Given the description of an element on the screen output the (x, y) to click on. 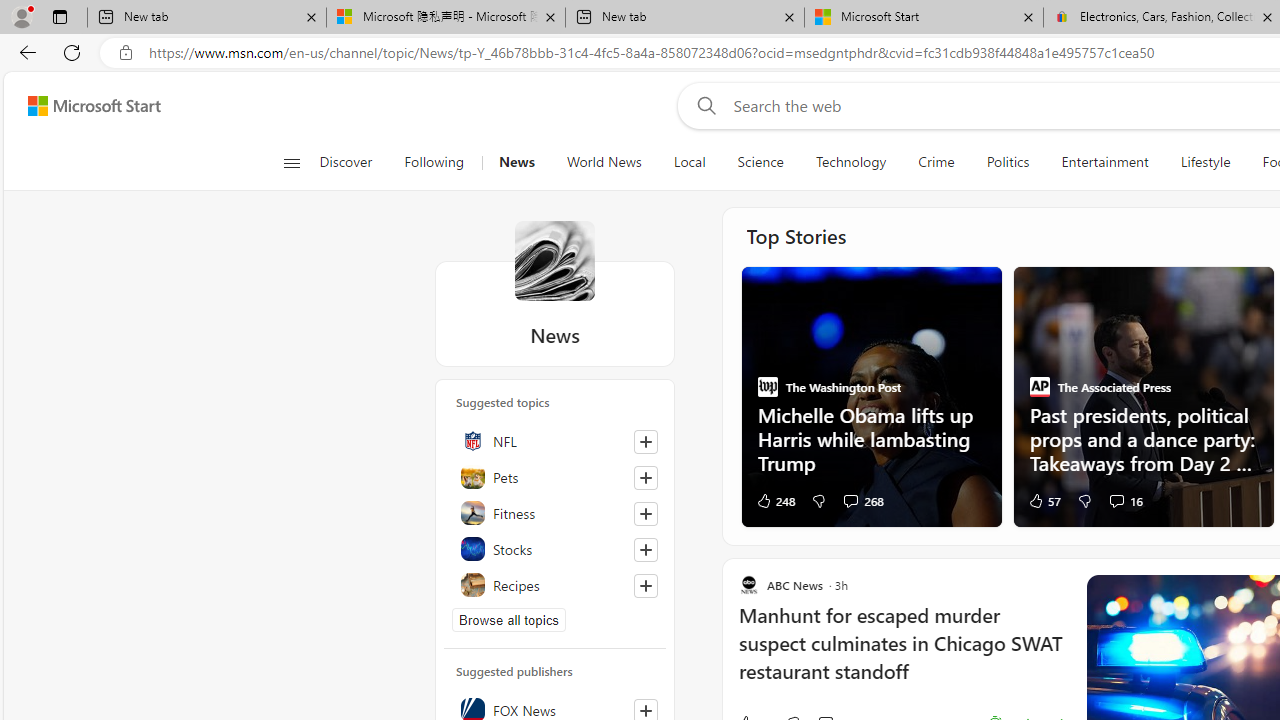
Science (760, 162)
Follow this source (645, 710)
Dislike (1083, 500)
View comments 16 Comment (1116, 500)
Local (688, 162)
Skip to content (86, 105)
Politics (1007, 162)
248 Like (774, 500)
Local (689, 162)
